Given the description of an element on the screen output the (x, y) to click on. 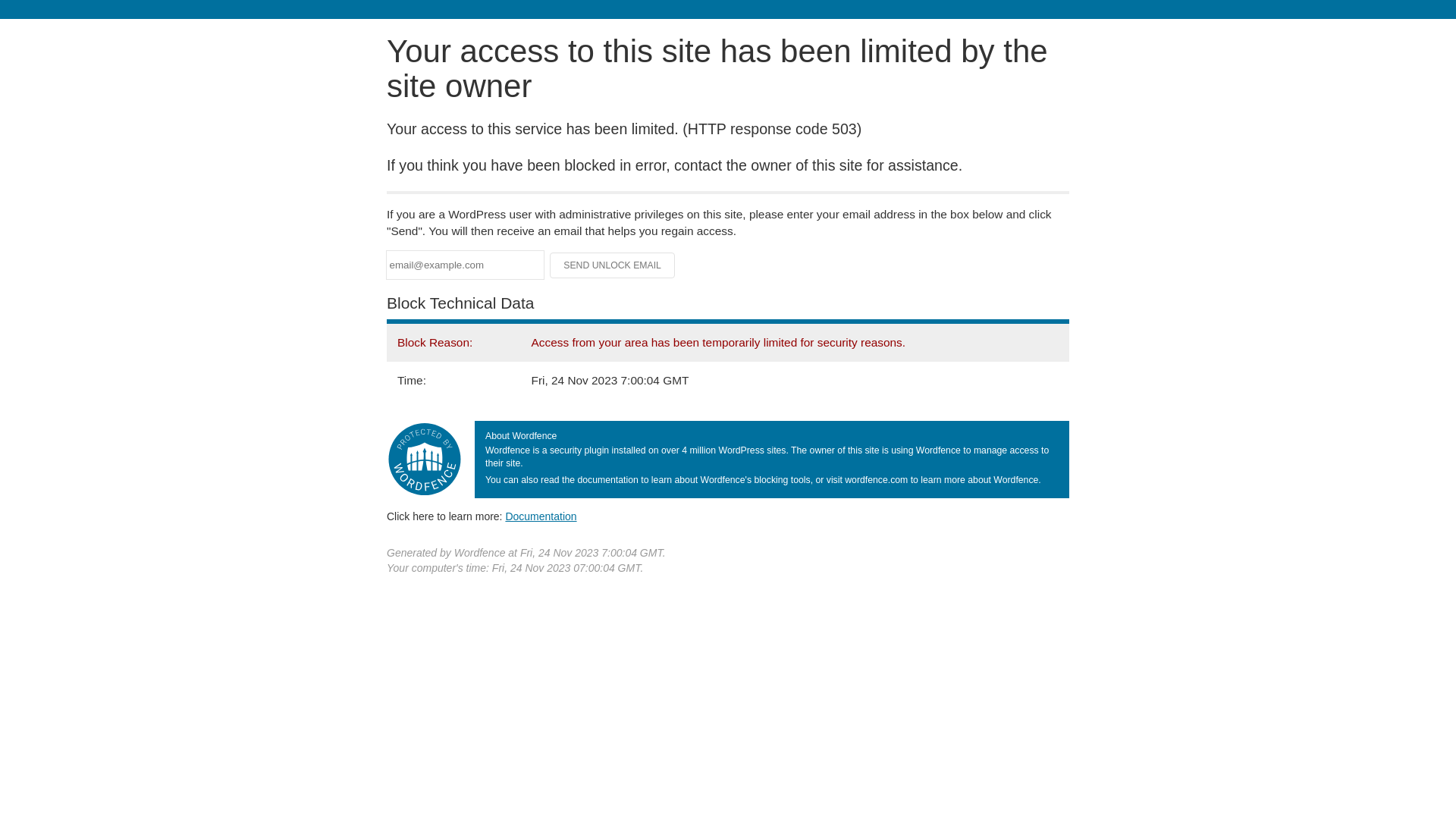
Documentation Element type: text (540, 516)
Send Unlock Email Element type: text (612, 265)
